Given the description of an element on the screen output the (x, y) to click on. 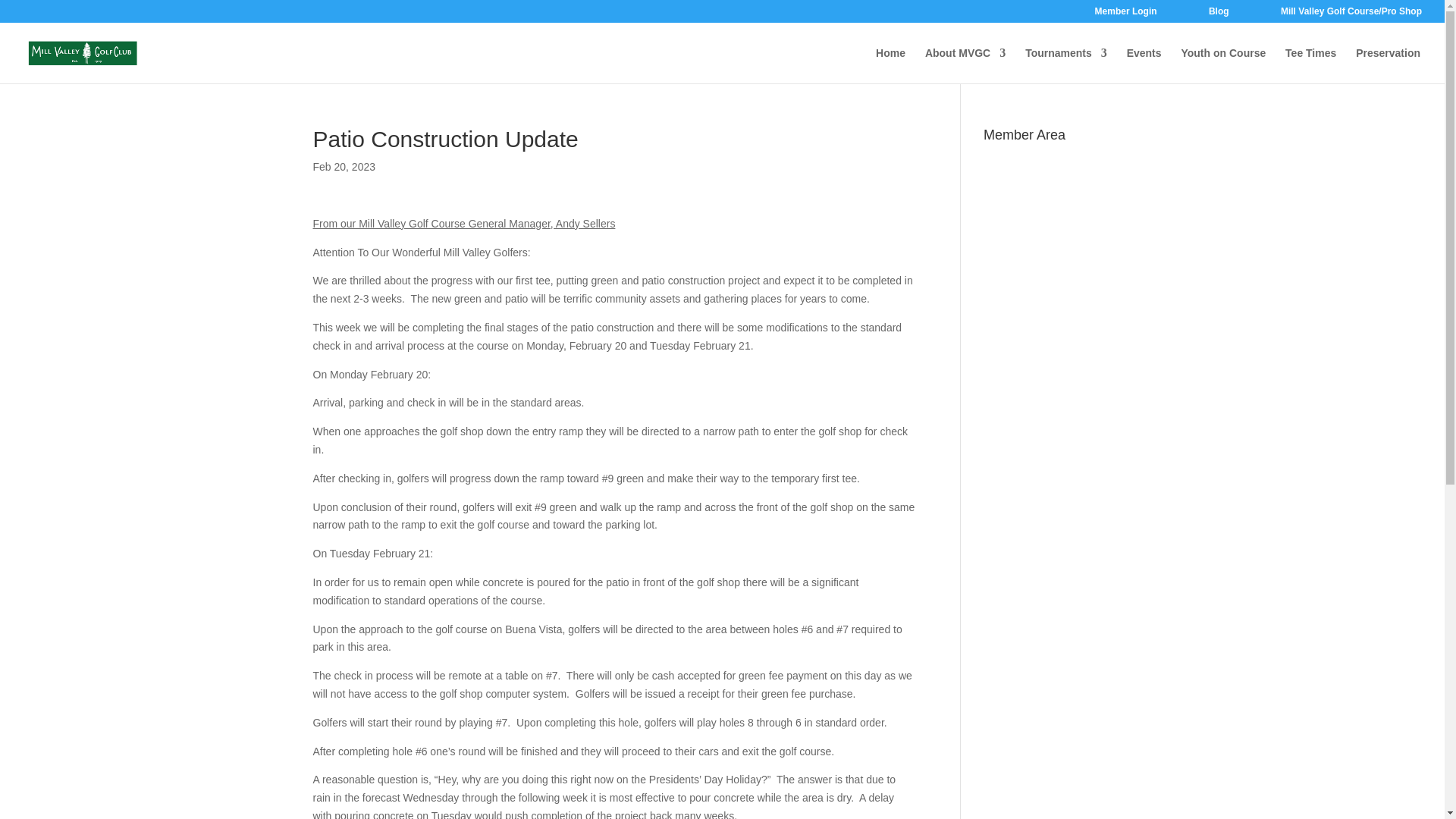
Tournaments (1065, 65)
Tee Times (1310, 65)
Preservation (1388, 65)
About MVGC (965, 65)
Events (1143, 65)
Member Login (1125, 14)
Blog (1218, 14)
Youth on Course (1222, 65)
